Given the description of an element on the screen output the (x, y) to click on. 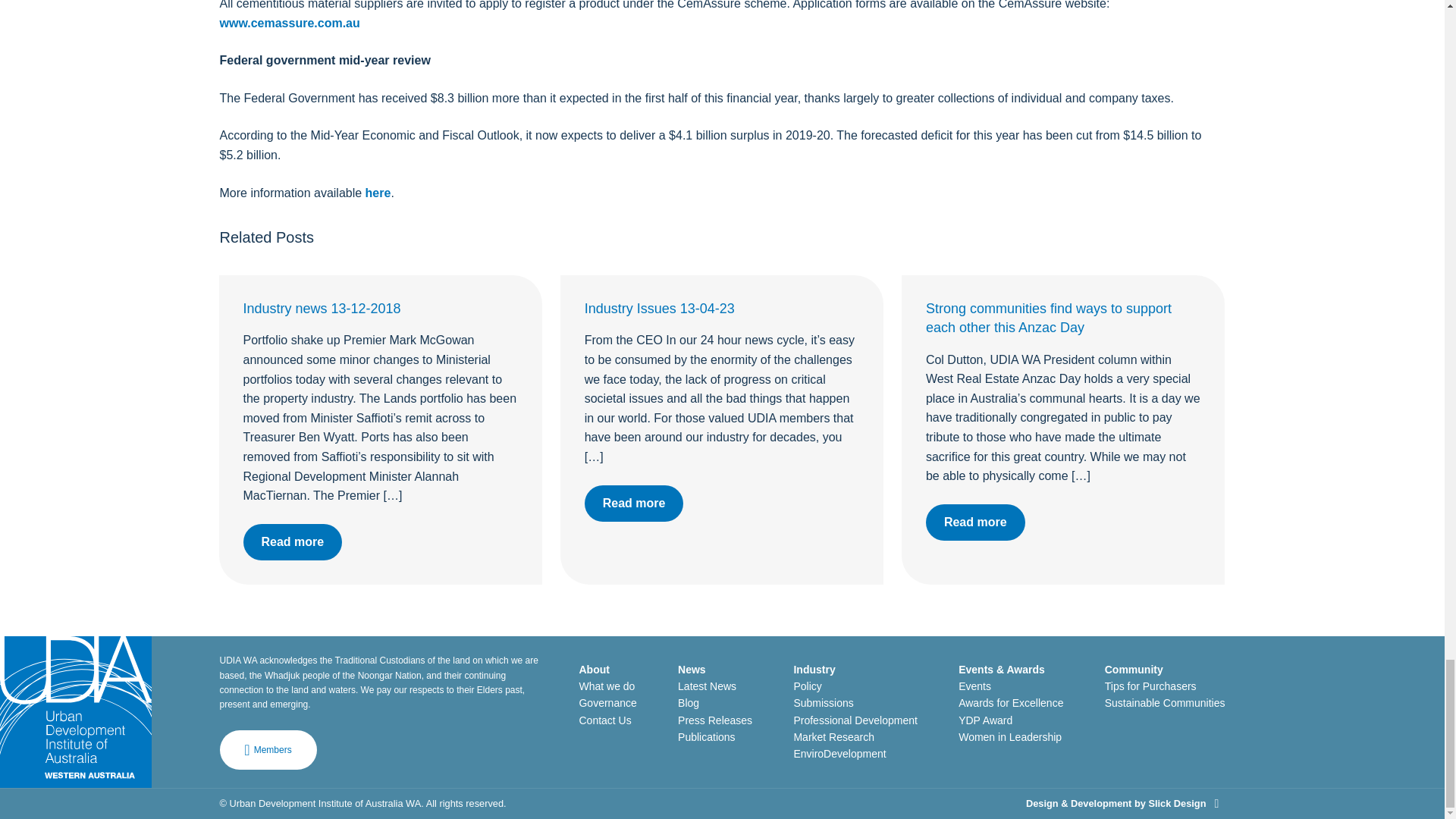
Logo (75, 711)
